Given the description of an element on the screen output the (x, y) to click on. 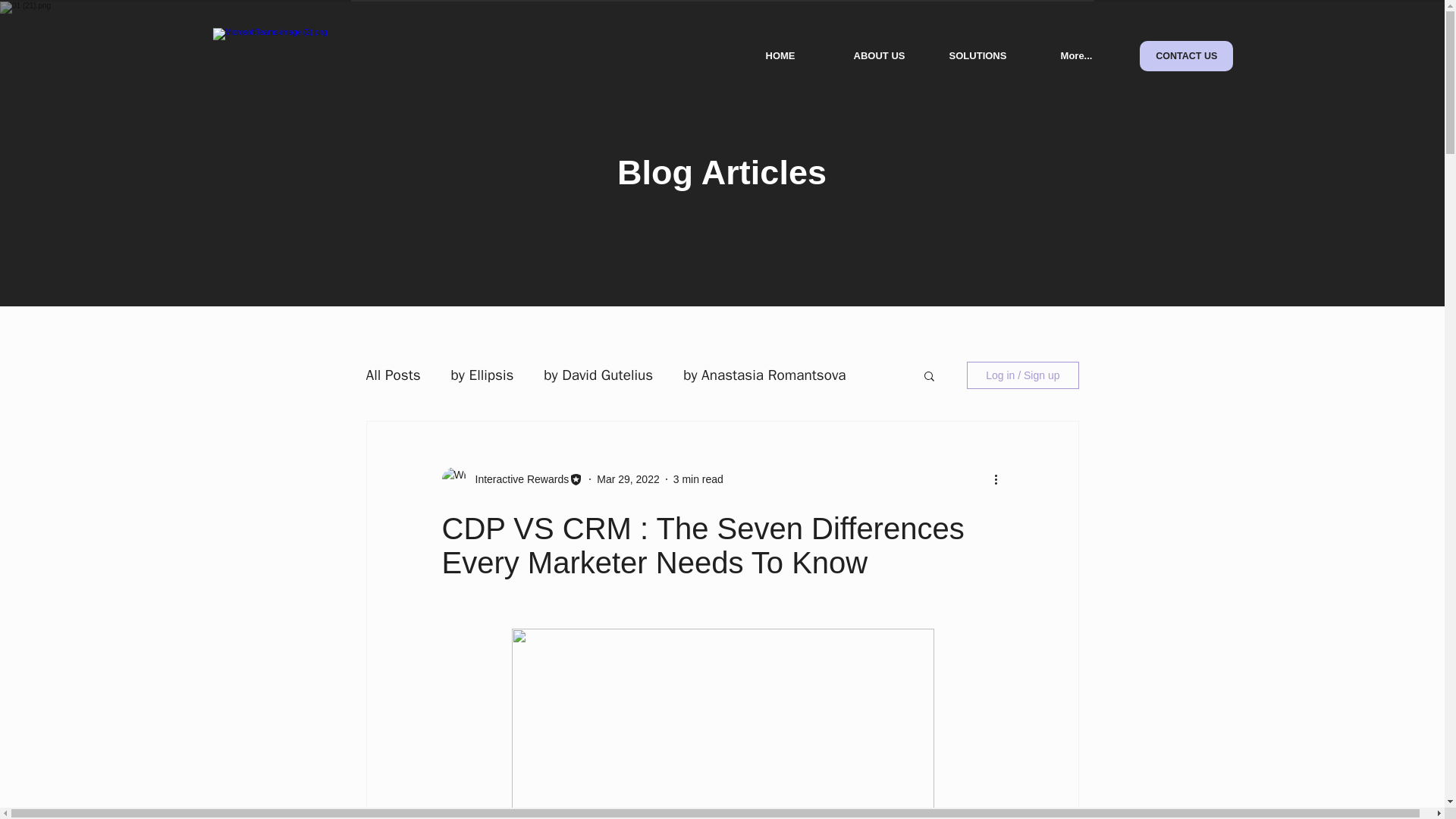
by David Gutelius (597, 374)
HOME (779, 55)
CONTACT US (1184, 55)
All Posts (392, 374)
SOLUTIONS (977, 55)
Mar 29, 2022 (627, 479)
Interactive Rewards (517, 479)
ABOUT US (878, 55)
3 min read (697, 479)
by Anastasia Romantsova (763, 374)
